Given the description of an element on the screen output the (x, y) to click on. 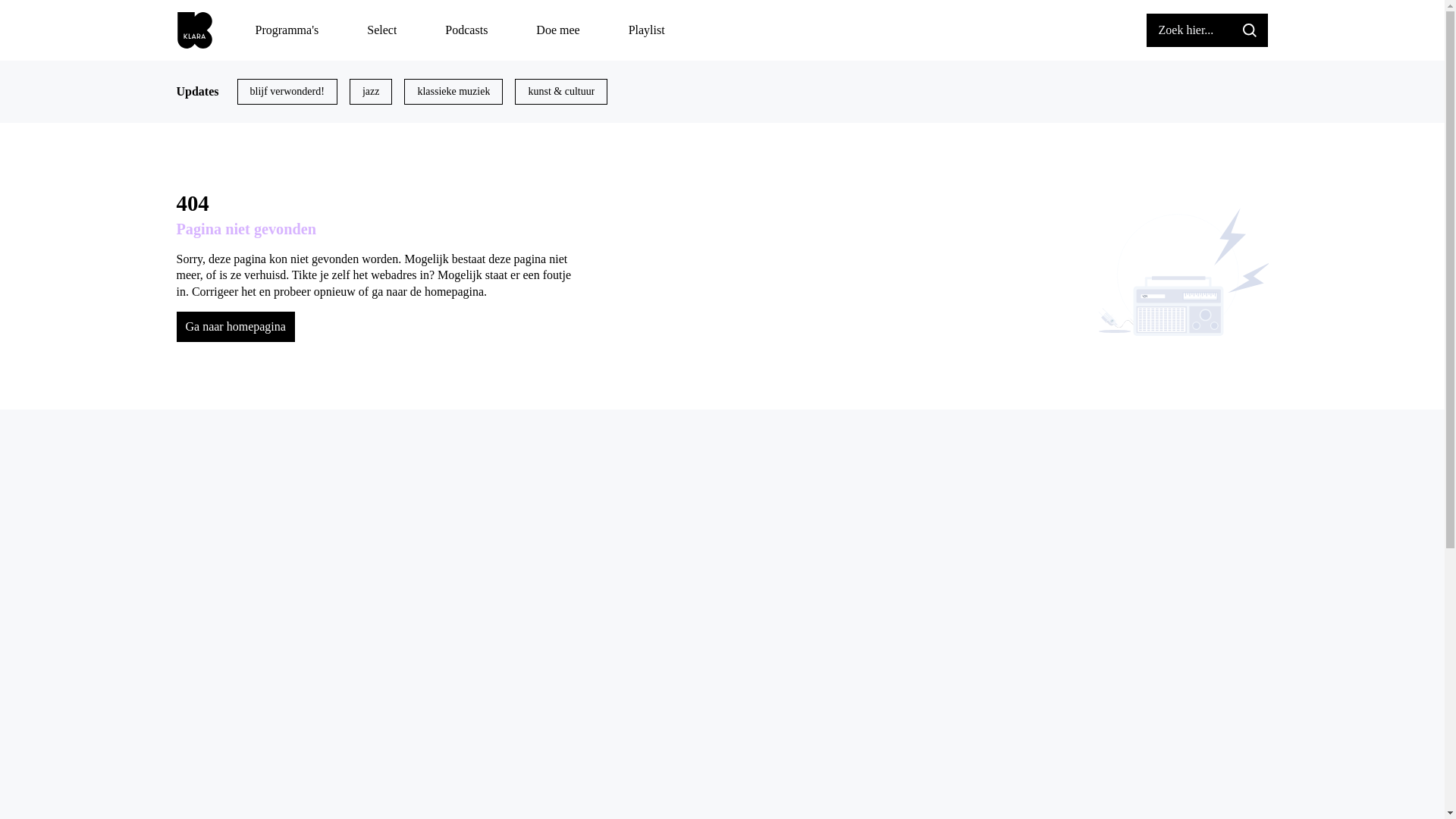
kunst & cultuur Element type: text (560, 91)
klassieke muziek Element type: text (453, 91)
Programma's Element type: text (286, 30)
jazz Element type: text (370, 91)
Playlist Element type: text (646, 30)
Ga naar homepagina Element type: text (234, 326)
Doe mee Element type: text (557, 30)
Podcasts Element type: text (465, 30)
blijf verwonderd! Element type: text (287, 91)
Select Element type: text (381, 30)
